Given the description of an element on the screen output the (x, y) to click on. 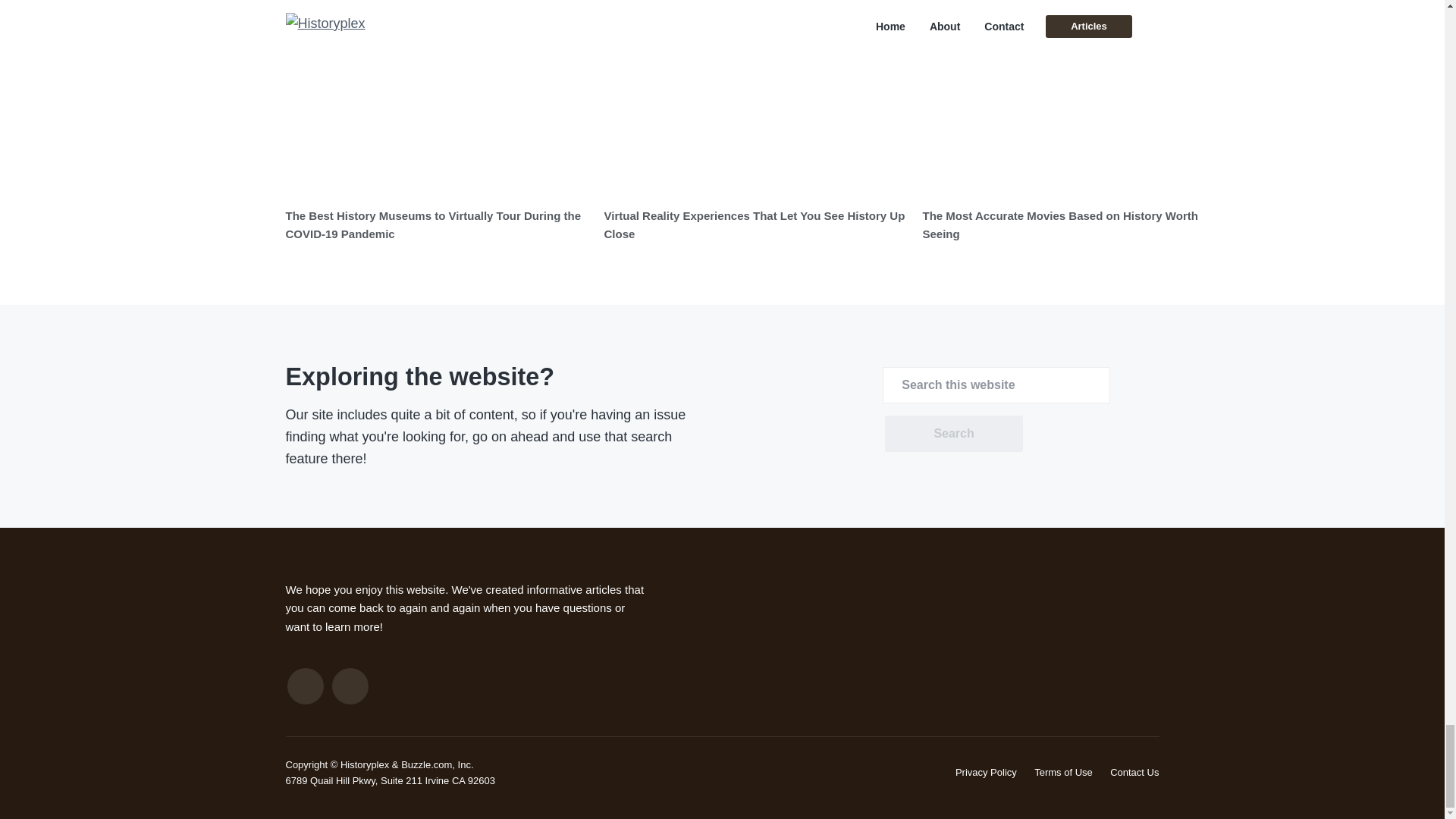
Search (953, 433)
Search (953, 433)
The Most Accurate Movies Based on History Worth Seeing (1058, 224)
